Given the description of an element on the screen output the (x, y) to click on. 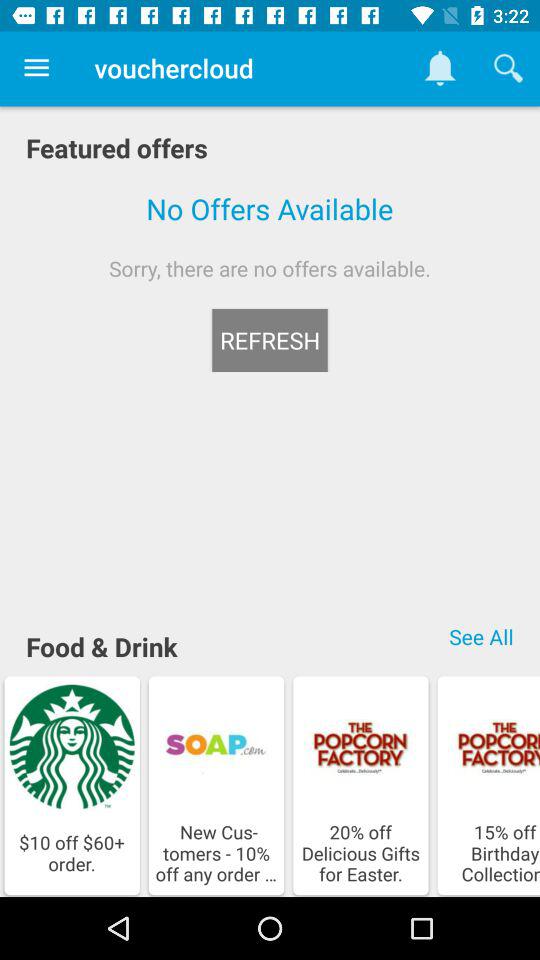
launch icon below sorry there are (481, 636)
